Given the description of an element on the screen output the (x, y) to click on. 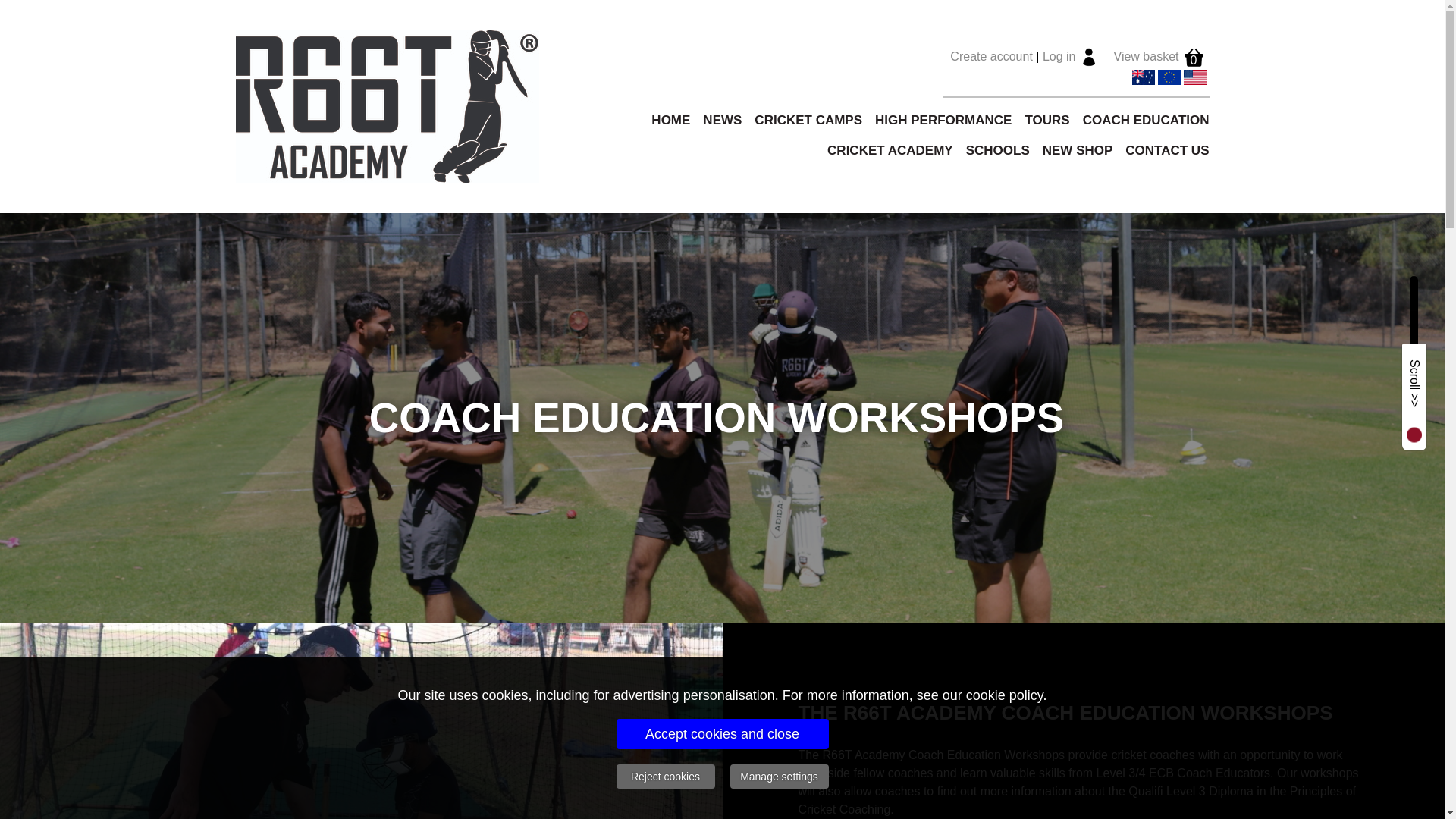
View basket (1146, 56)
NEWS (715, 119)
Create account (991, 56)
HOME (664, 119)
CRICKET CAMPS (801, 119)
0 (1194, 56)
HIGH PERFORMANCE (936, 119)
TOURS (1039, 119)
Log in (1058, 56)
COACH EDUCATION (1139, 119)
